Given the description of an element on the screen output the (x, y) to click on. 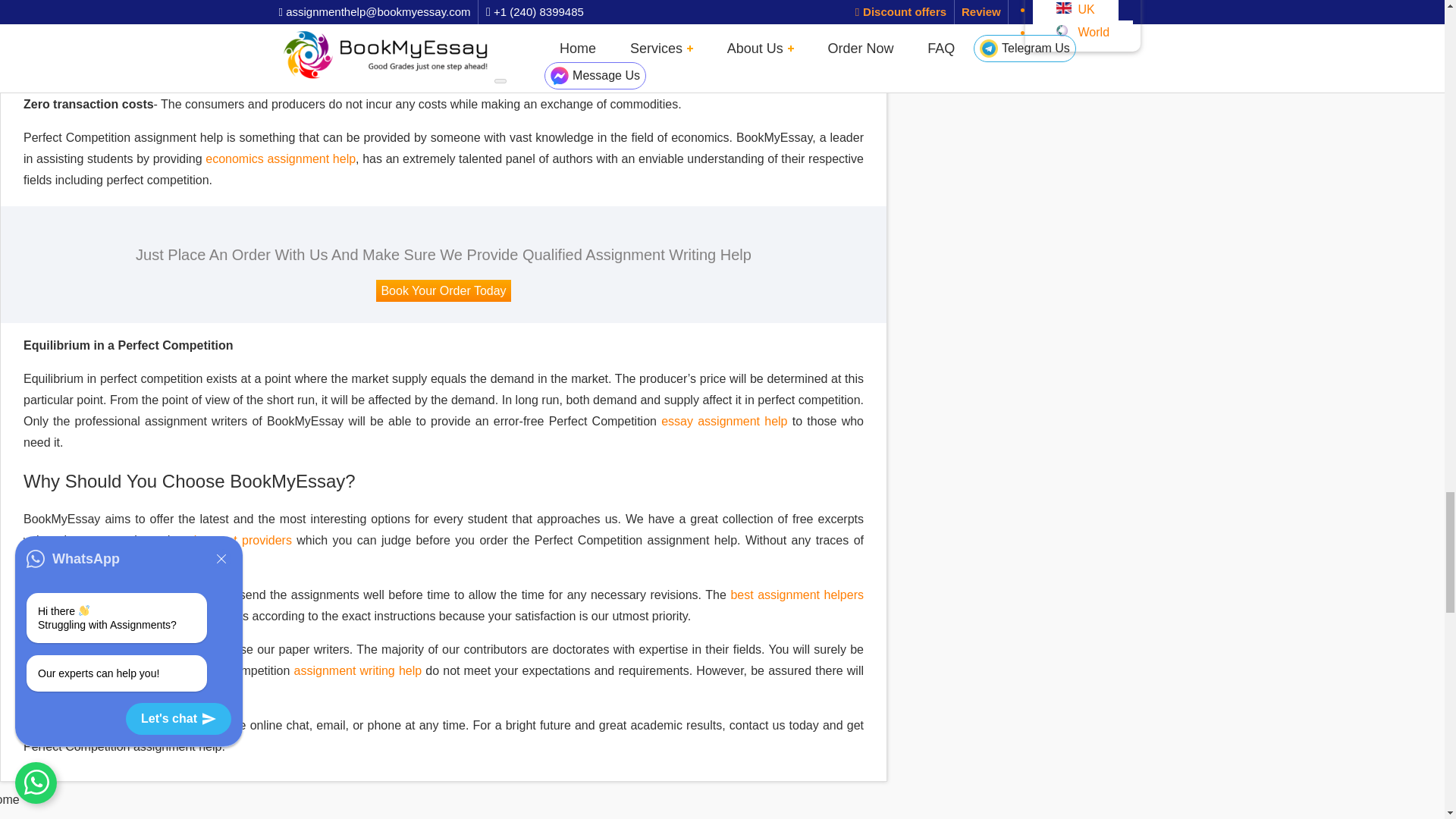
BookMyEssay  (10, 799)
